Given the description of an element on the screen output the (x, y) to click on. 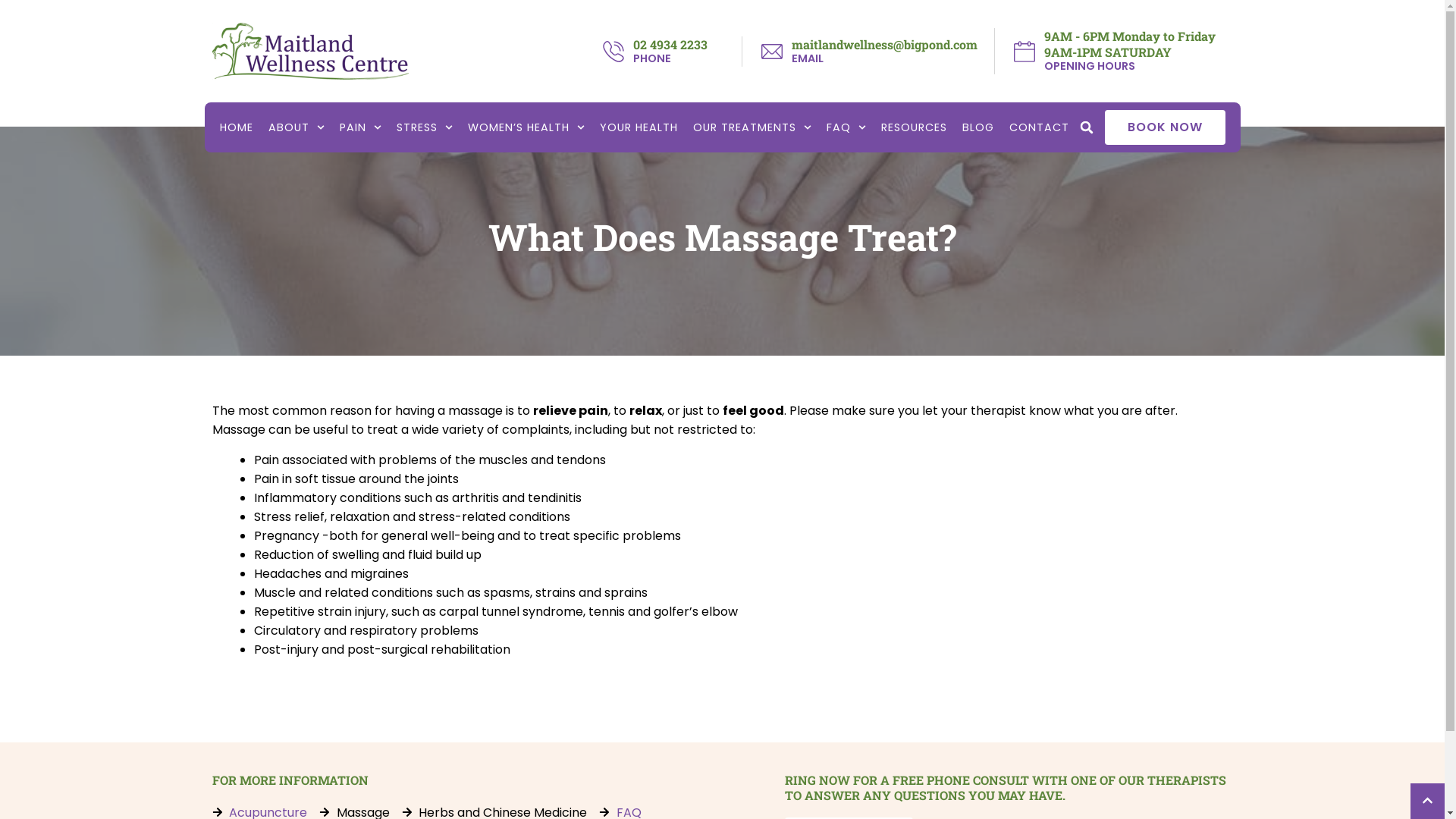
BOOK NOW Element type: text (1164, 126)
RESOURCES Element type: text (914, 126)
CONTACT Element type: text (1039, 126)
02 4934 2233 Element type: text (670, 44)
YOUR HEALTH Element type: text (638, 126)
maitlandwellness@bigpond.com Element type: text (884, 44)
PAIN Element type: text (360, 126)
BLOG Element type: text (978, 126)
STRESS Element type: text (424, 126)
ABOUT Element type: text (296, 126)
HOME Element type: text (236, 126)
OUR TREATMENTS Element type: text (752, 126)
FAQ Element type: text (846, 126)
